Given the description of an element on the screen output the (x, y) to click on. 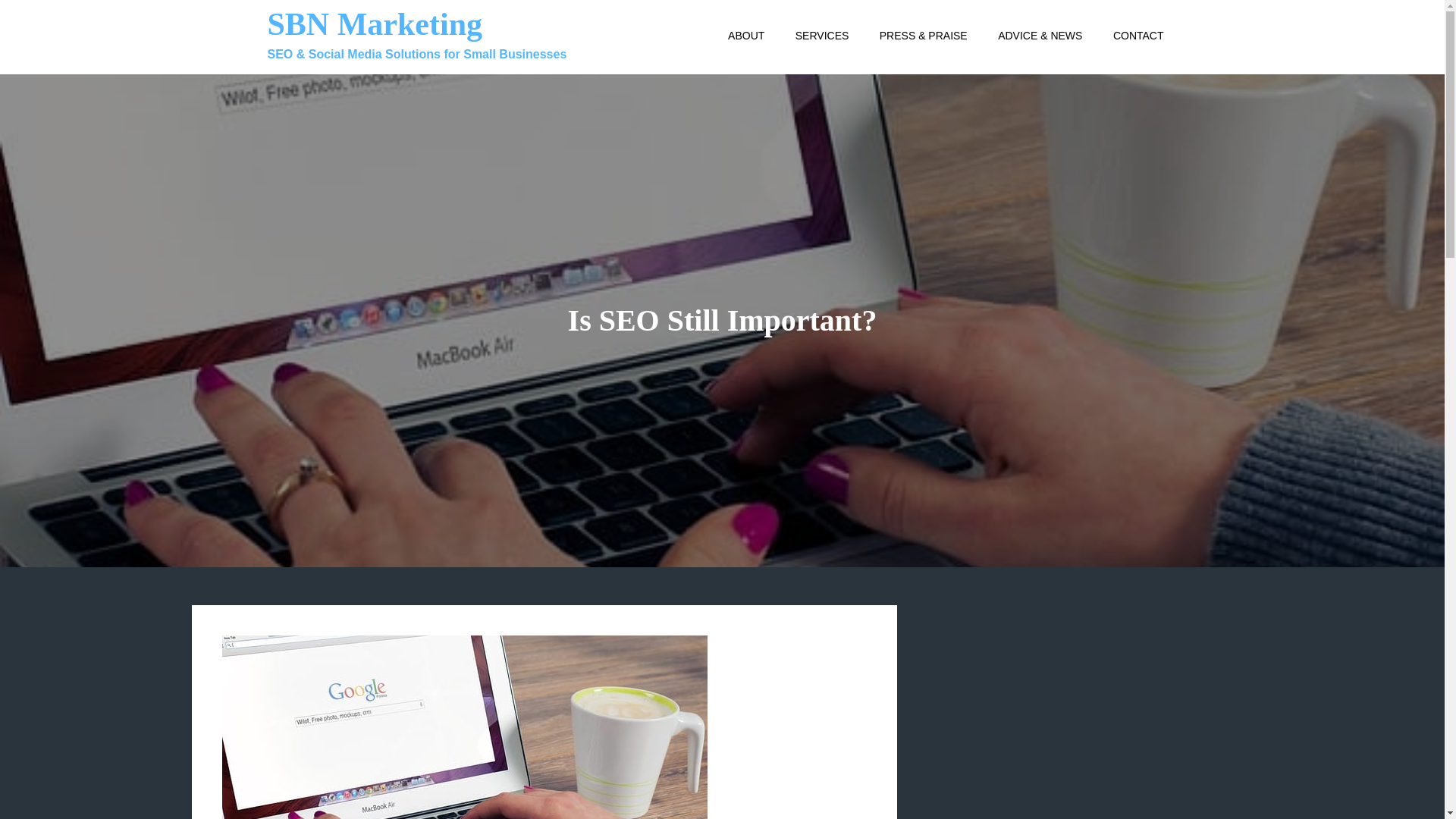
CONTACT (1138, 35)
SBN Marketing (373, 23)
ABOUT (745, 35)
SERVICES (822, 35)
